Given the description of an element on the screen output the (x, y) to click on. 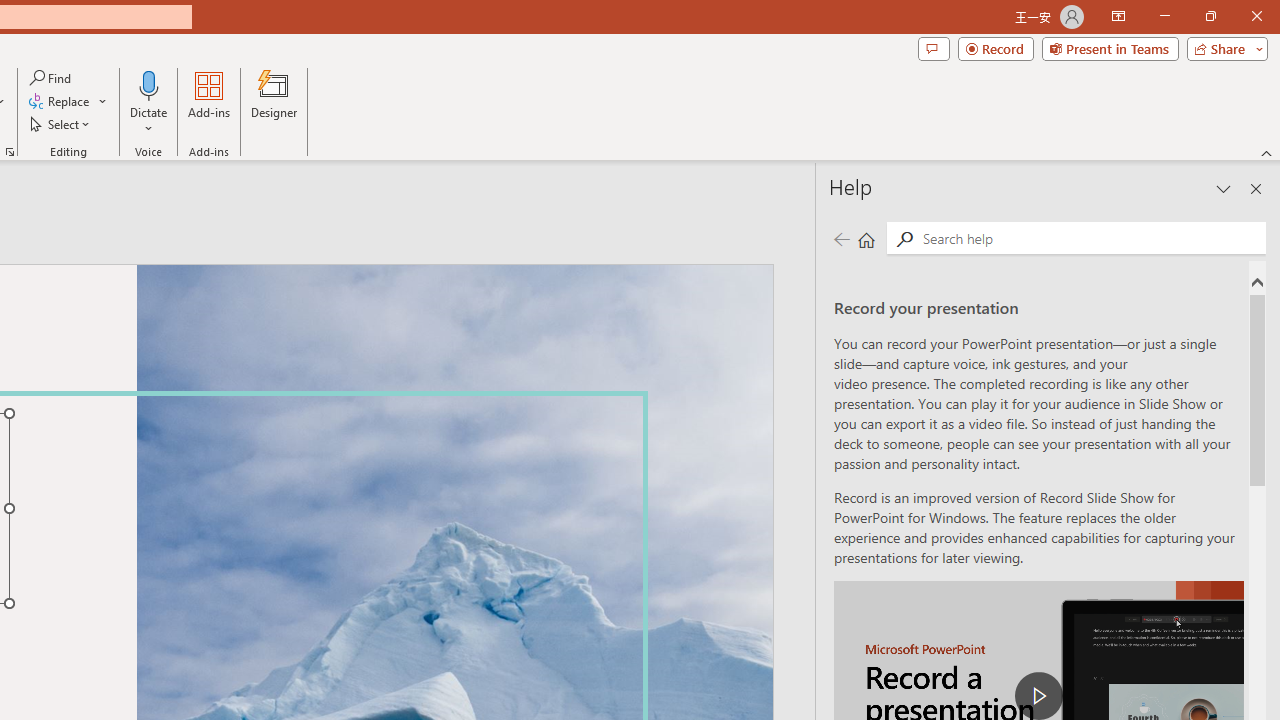
play Record a Presentation (1038, 695)
Previous page (841, 238)
